Given the description of an element on the screen output the (x, y) to click on. 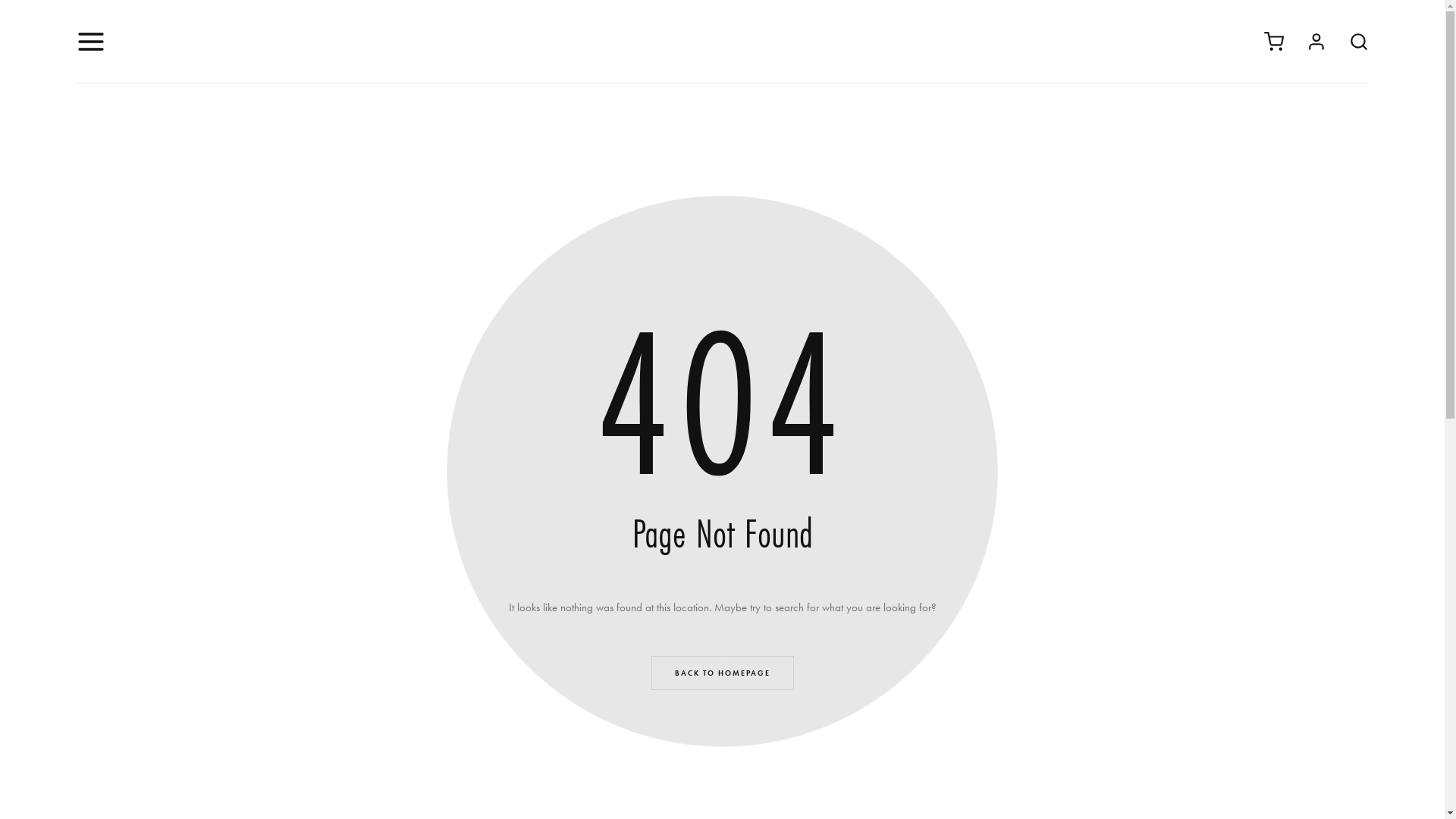
BACK TO HOMEPAGE Element type: text (721, 672)
